Given the description of an element on the screen output the (x, y) to click on. 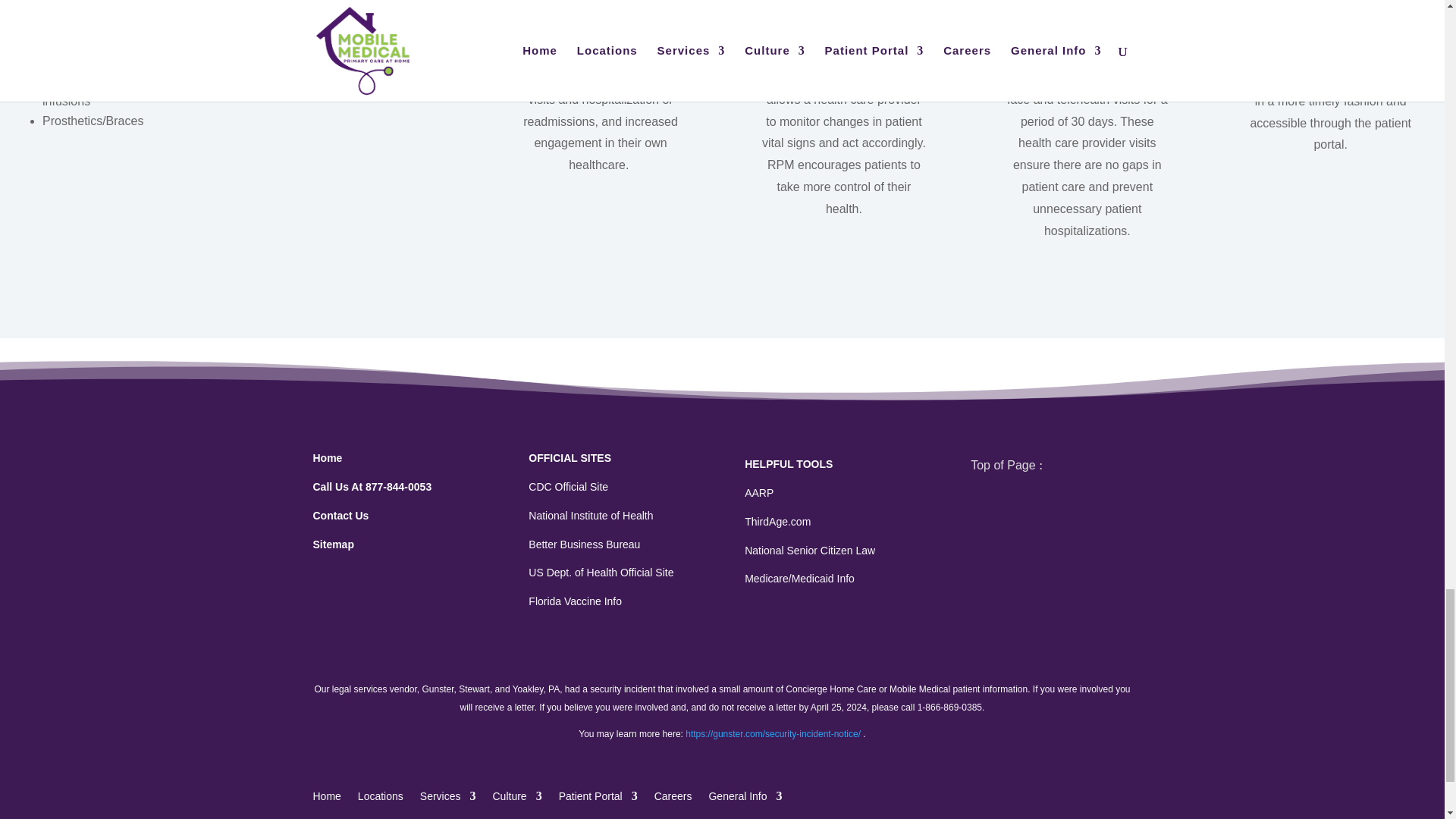
Better Business Bureau (584, 544)
Call Us (371, 486)
National Institute of Health (590, 515)
Sitemap (333, 544)
Home (327, 458)
AARP (758, 492)
Contact Us (340, 515)
US Dept. of Health Official Site (600, 572)
Florida Vaccine Info (574, 601)
CDC Official Site (568, 486)
